Given the description of an element on the screen output the (x, y) to click on. 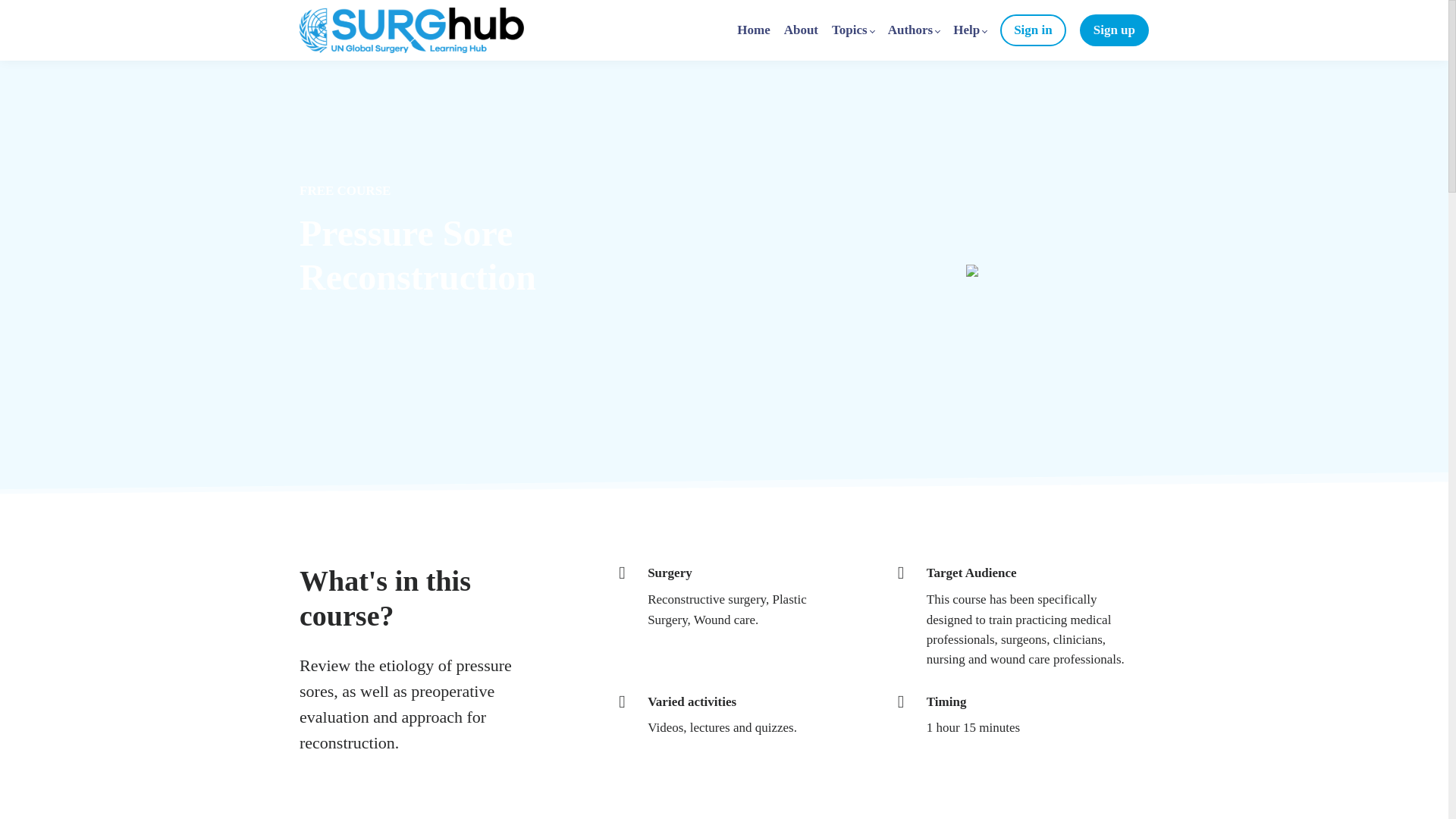
About (801, 30)
Sign in (1032, 29)
Sign up (1114, 29)
Topics (853, 30)
Home (753, 30)
